Given the description of an element on the screen output the (x, y) to click on. 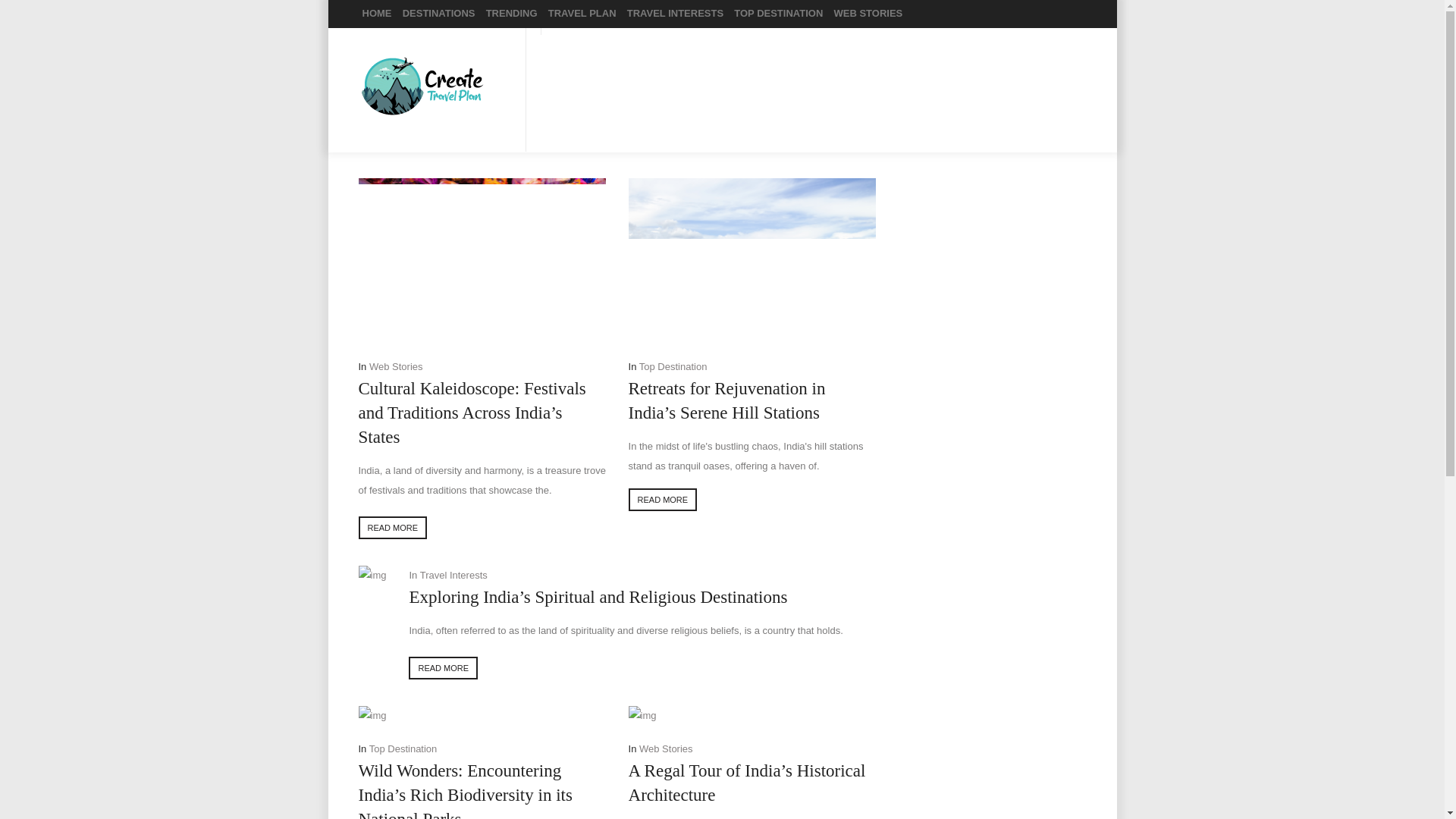
Travel Interests (453, 574)
Top Destination (403, 748)
TRAVEL INTERESTS (674, 13)
WEB STORIES (867, 13)
READ MORE (392, 527)
Top Destination (673, 366)
Web Stories (666, 748)
Web Stories (396, 366)
READ MORE (662, 499)
DESTINATIONS (438, 13)
